Given the description of an element on the screen output the (x, y) to click on. 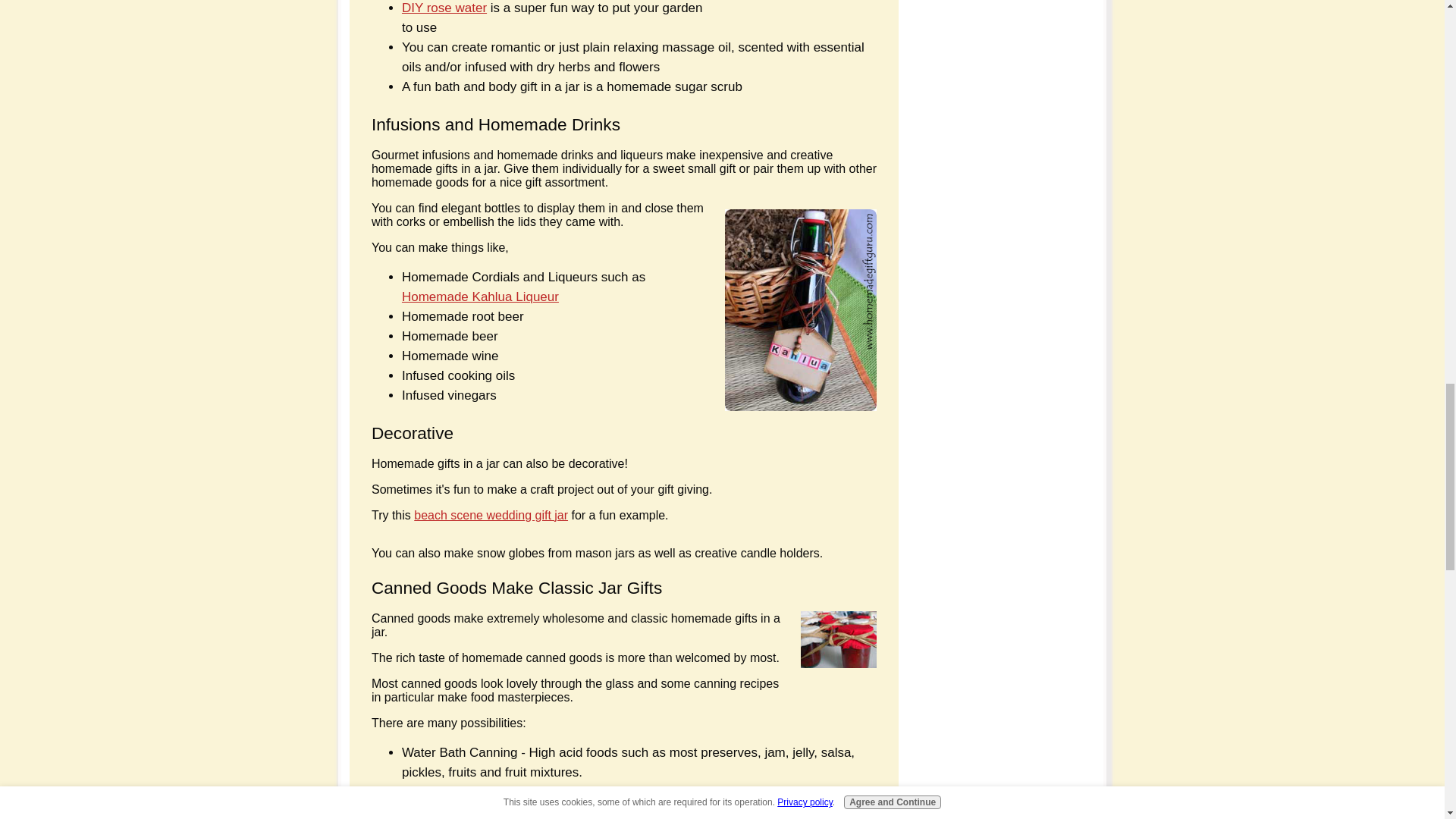
Go to Homemade Kahlua (794, 406)
